Given the description of an element on the screen output the (x, y) to click on. 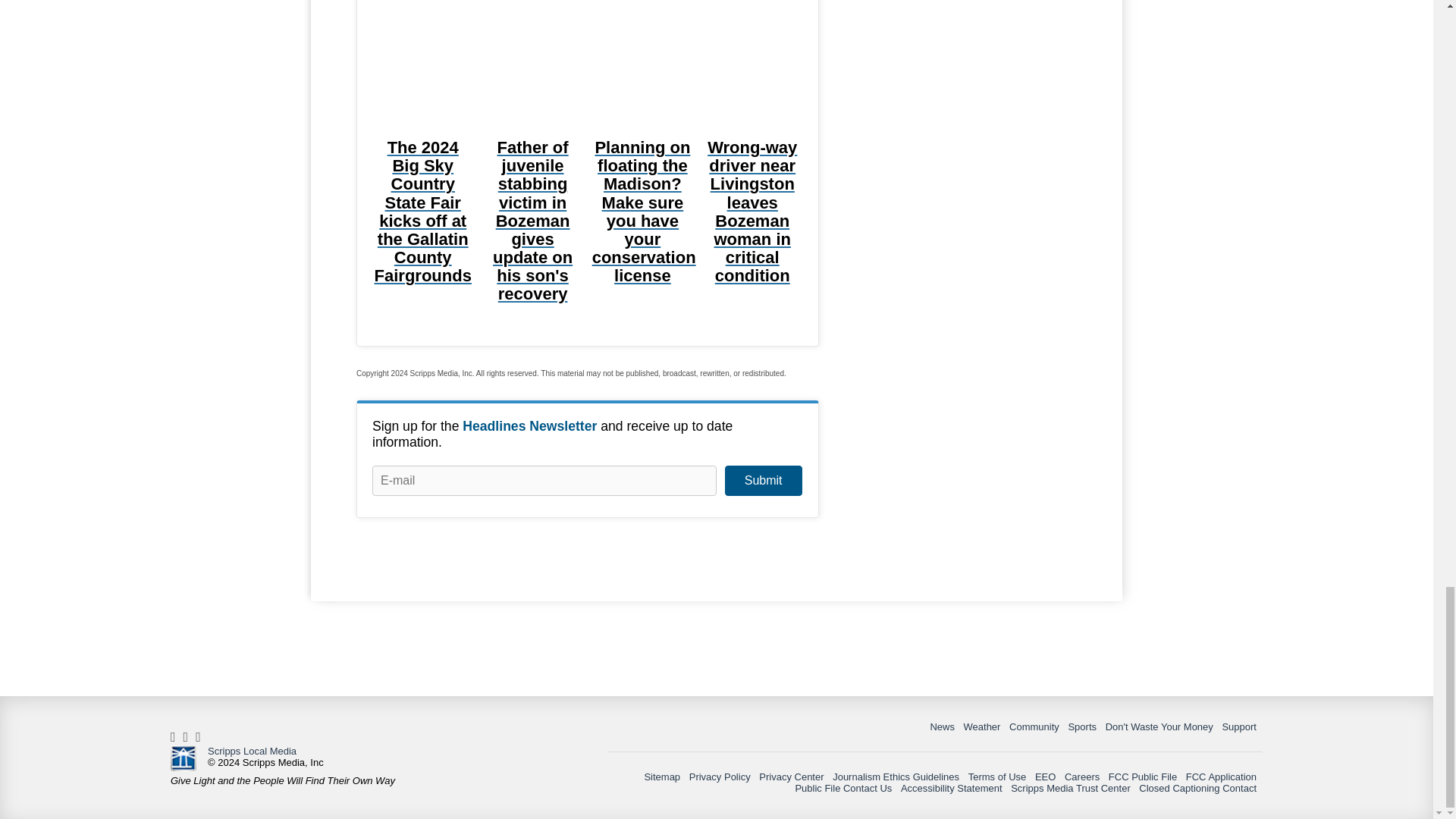
Submit (763, 481)
